Given the description of an element on the screen output the (x, y) to click on. 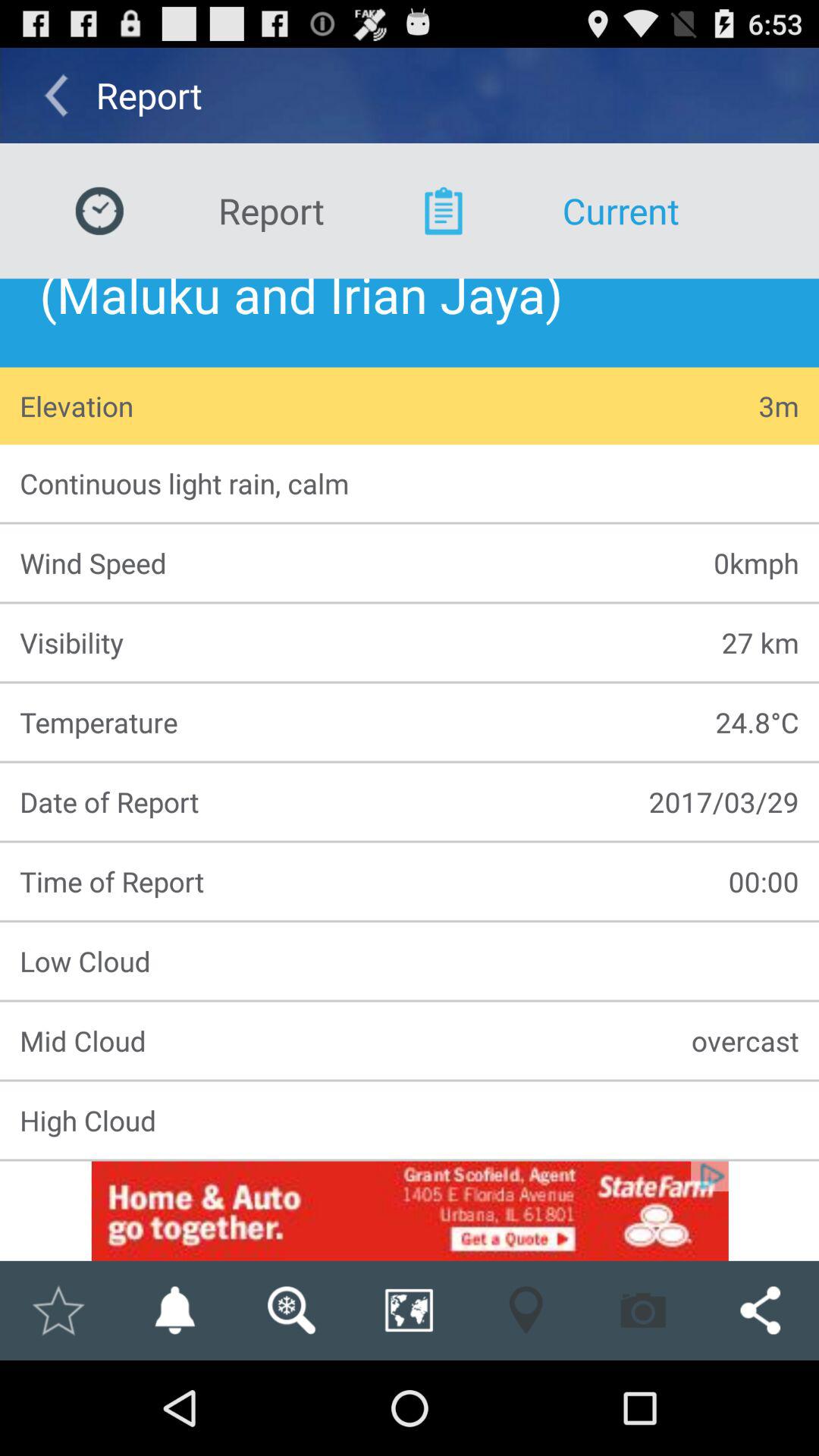
search option (291, 1310)
